Given the description of an element on the screen output the (x, y) to click on. 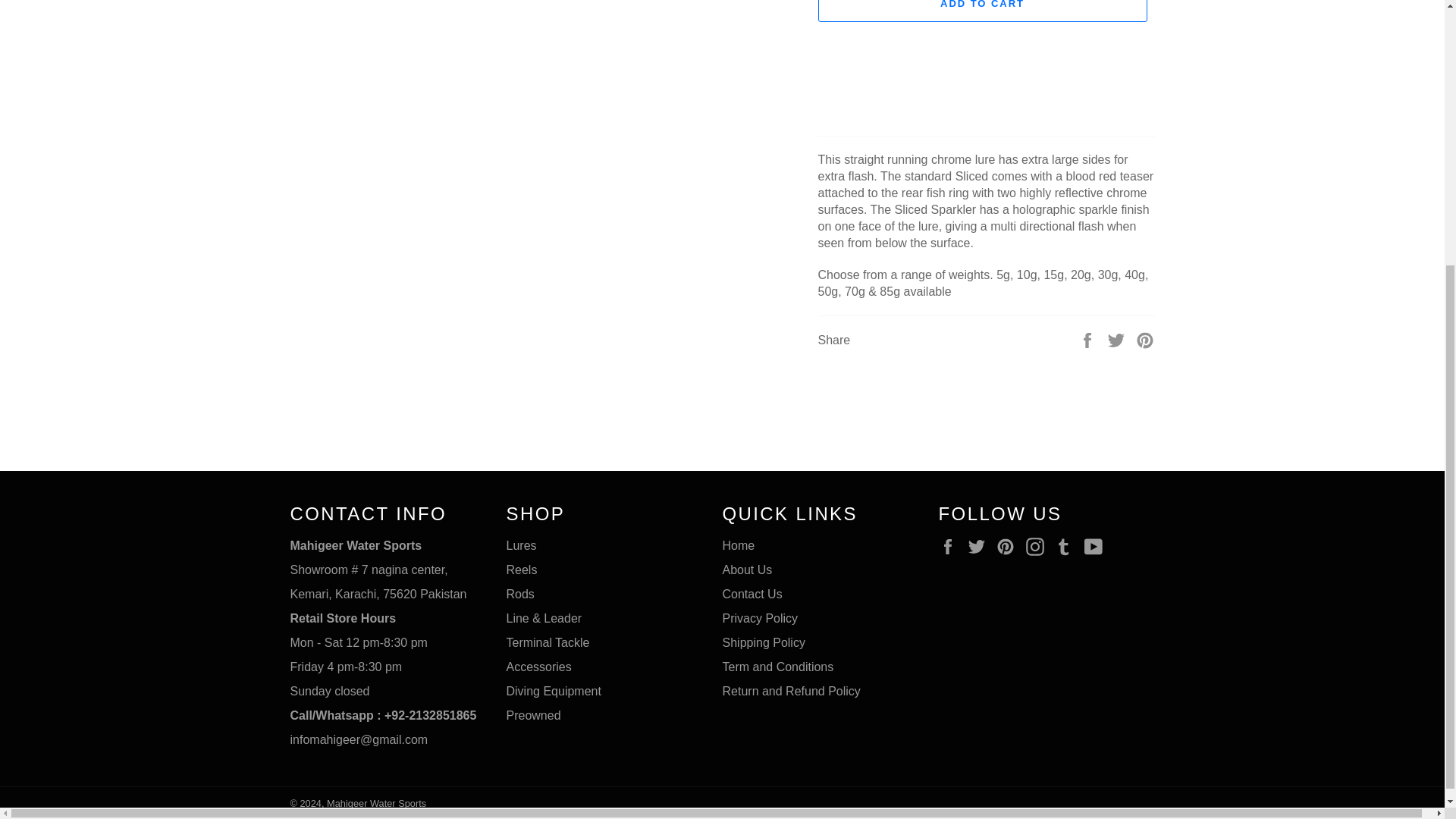
Whatsapp Mahigeer Water Sports (382, 715)
Terminal Tackle (547, 642)
Accessories (539, 666)
Rods (520, 594)
Mahigeer Water Sports on Facebook (951, 546)
Mahigeer Water Sports on Twitter (980, 546)
Refund Policy (791, 690)
Tweet on Twitter (1117, 339)
Terms of Service (777, 666)
Pin on Pinterest (1144, 339)
